Given the description of an element on the screen output the (x, y) to click on. 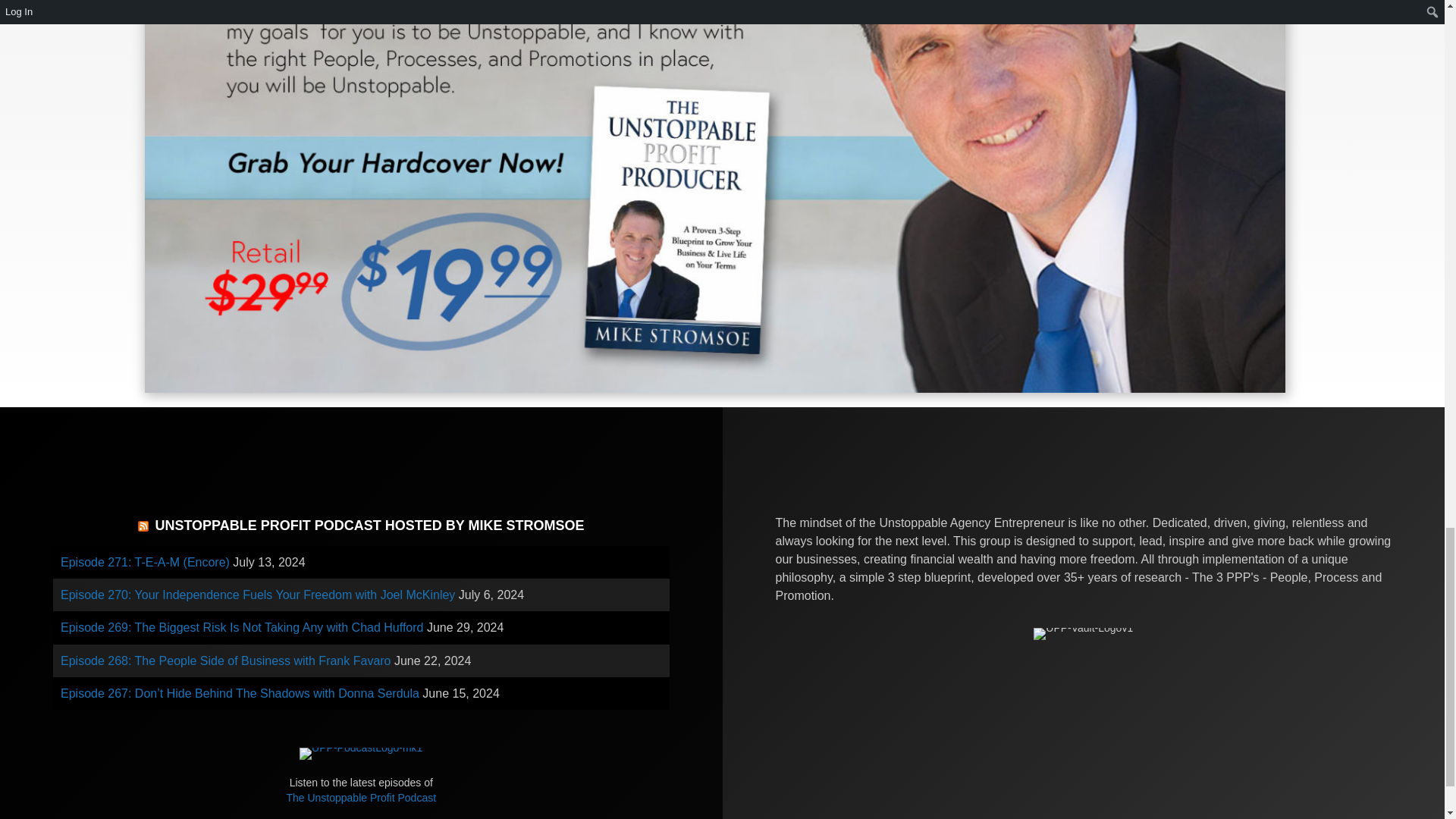
UPP-Vault-Logov1 (1082, 633)
UPP-PodcastLogo-mk1 (360, 753)
